Given the description of an element on the screen output the (x, y) to click on. 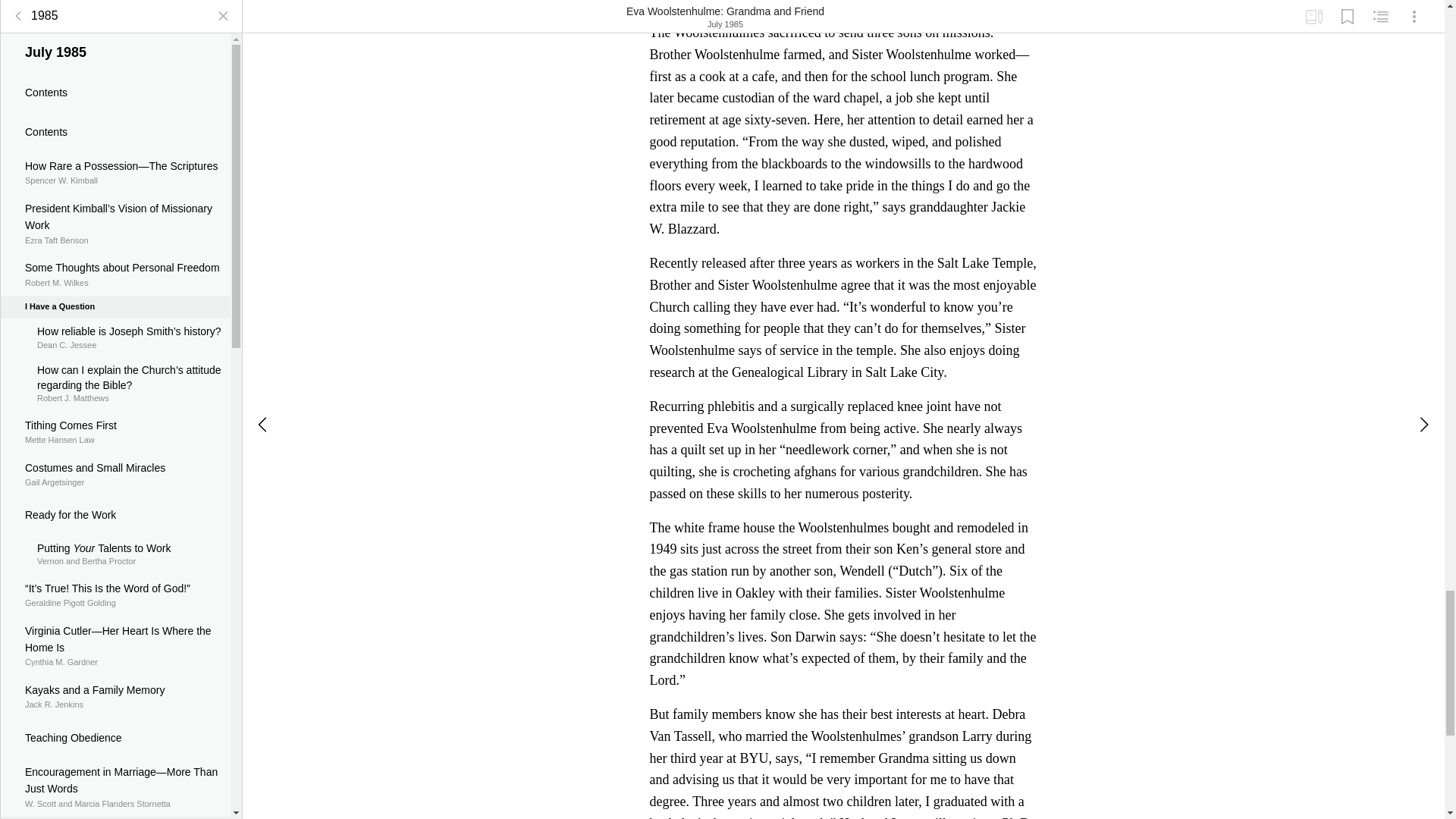
Update: Melchizedek Priesthood Bearers (115, 188)
Policies and Announcements (115, 96)
Appointments (115, 222)
Fireside Commemorates Aaronic Priesthood Restoration (115, 13)
